Given the description of an element on the screen output the (x, y) to click on. 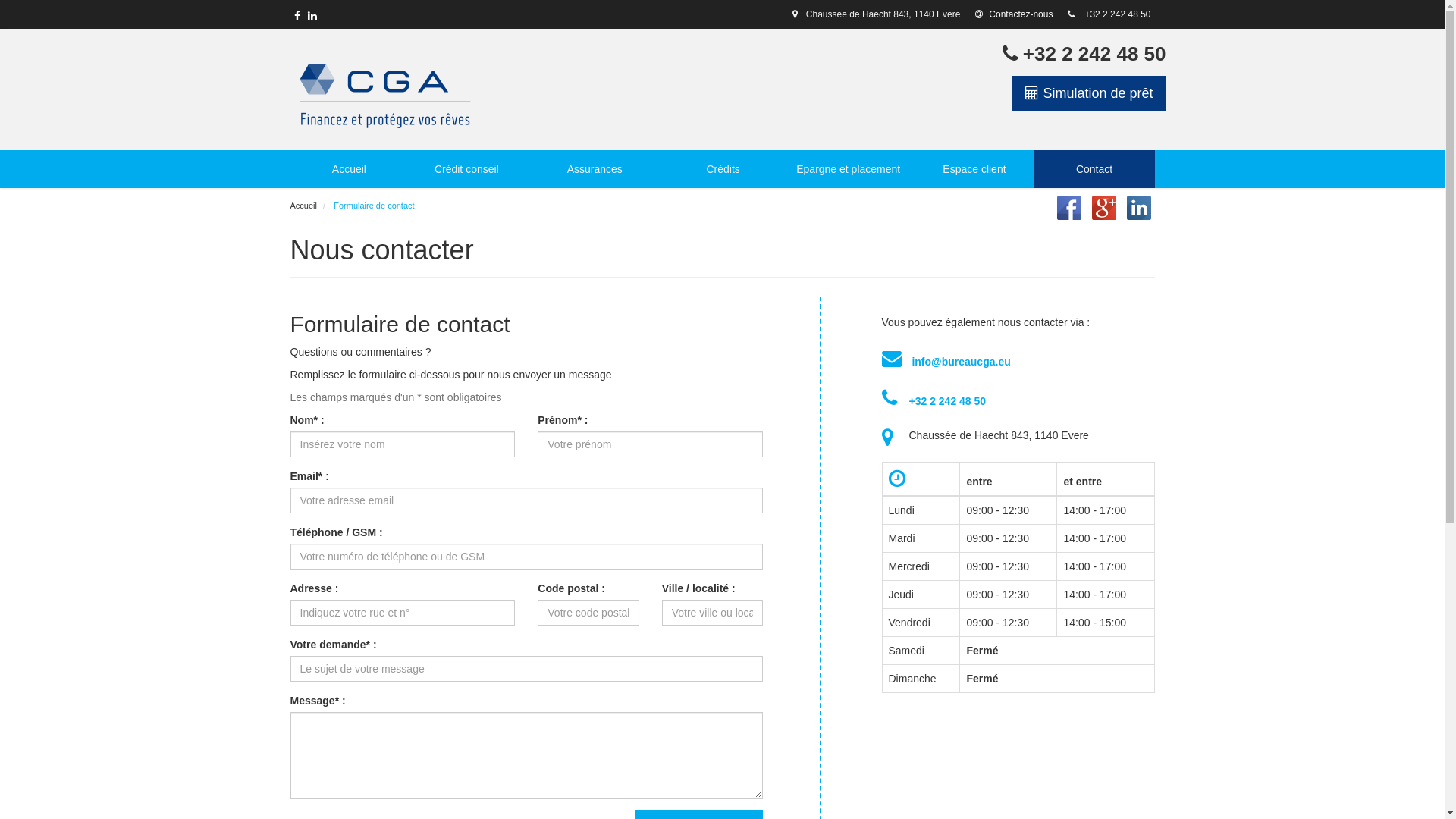
Epargne et placement Element type: text (847, 169)
Accueil Element type: text (302, 205)
Partager sur Facebook Element type: hover (1069, 206)
+32 2 242 48 50 Element type: text (946, 401)
Accueil Element type: hover (385, 91)
Accueil Element type: text (348, 169)
+32 2 242 48 50 Element type: text (1117, 14)
Contact Element type: text (1094, 169)
Partager sur Google Element type: hover (1104, 206)
Suivez-nous sur Facebook Element type: text (296, 15)
info@bureaucga.eu Element type: text (960, 361)
Suivez-nous sur LinkedIn Element type: text (311, 15)
Assurances Element type: text (594, 169)
Espace client Element type: text (973, 169)
Contactez-nous Element type: text (1013, 14)
Partager sur Linkedin Element type: hover (1138, 206)
